Given the description of an element on the screen output the (x, y) to click on. 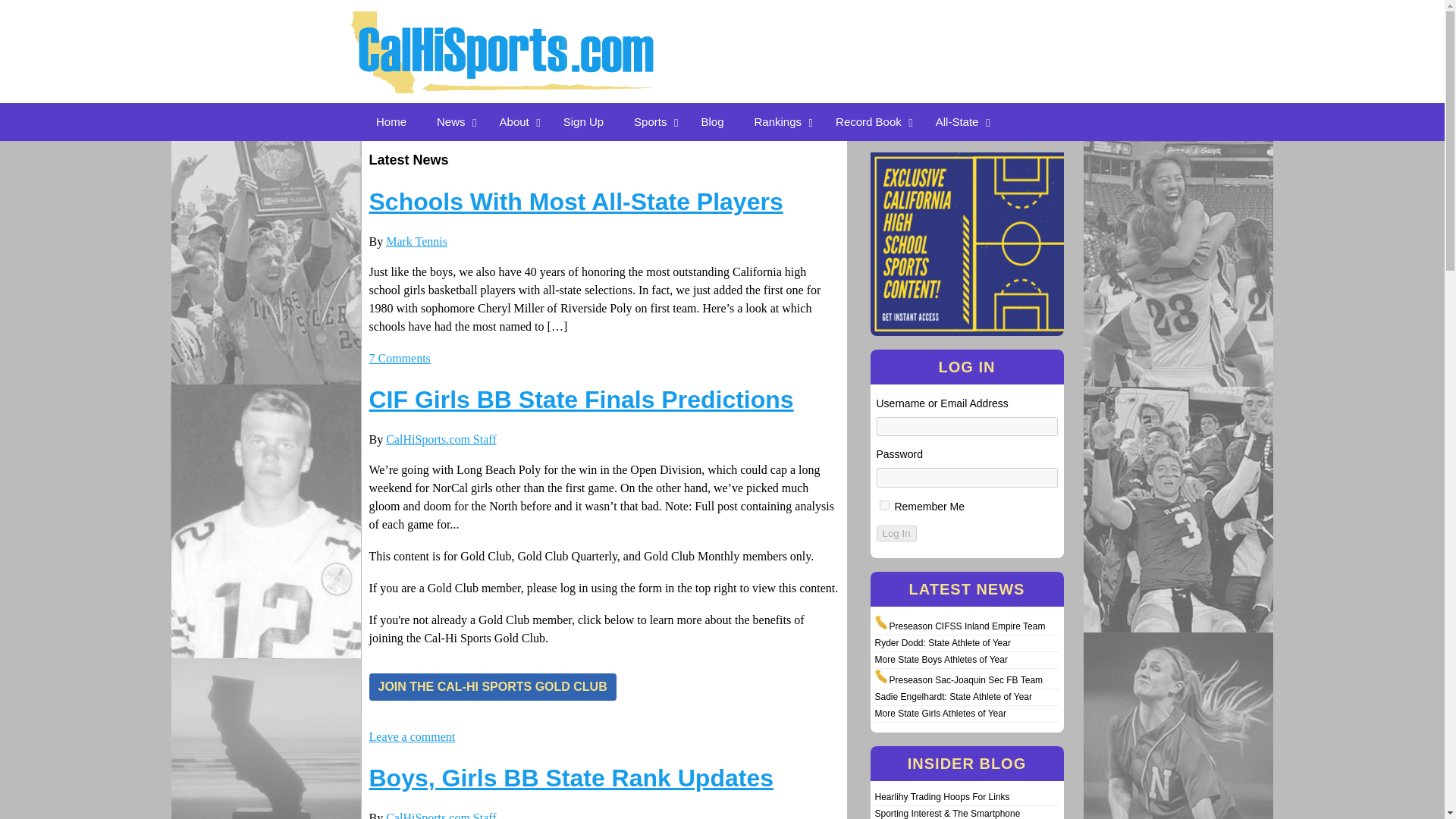
Rankings (779, 121)
Blog (711, 121)
View all posts by CalHiSports.com Staff (440, 815)
Permalink to Boys, Girls BB State Rank Updates (570, 777)
View all posts by CalHiSports.com Staff (440, 439)
About (516, 121)
Permalink to CIF Girls BB State Finals Predictions (580, 399)
Record Book (870, 121)
Home (391, 121)
Sports (651, 121)
